Given the description of an element on the screen output the (x, y) to click on. 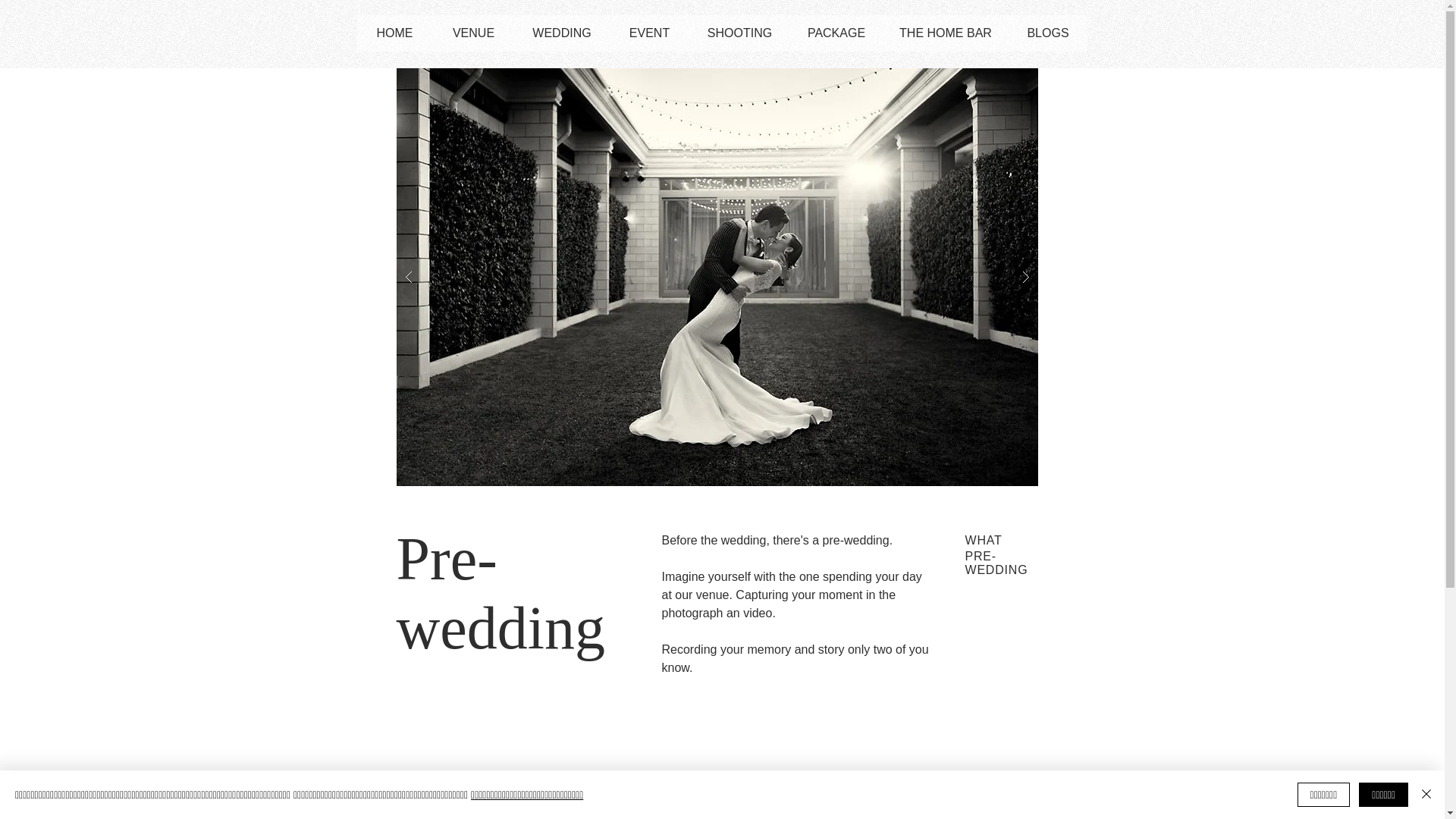
WEDDING (560, 33)
VENUE (472, 33)
THE HOME BAR (944, 33)
SHOOTING (738, 33)
HOME (394, 33)
EVENT (648, 33)
BLOGS (1047, 33)
PACKAGE (835, 33)
